Given the description of an element on the screen output the (x, y) to click on. 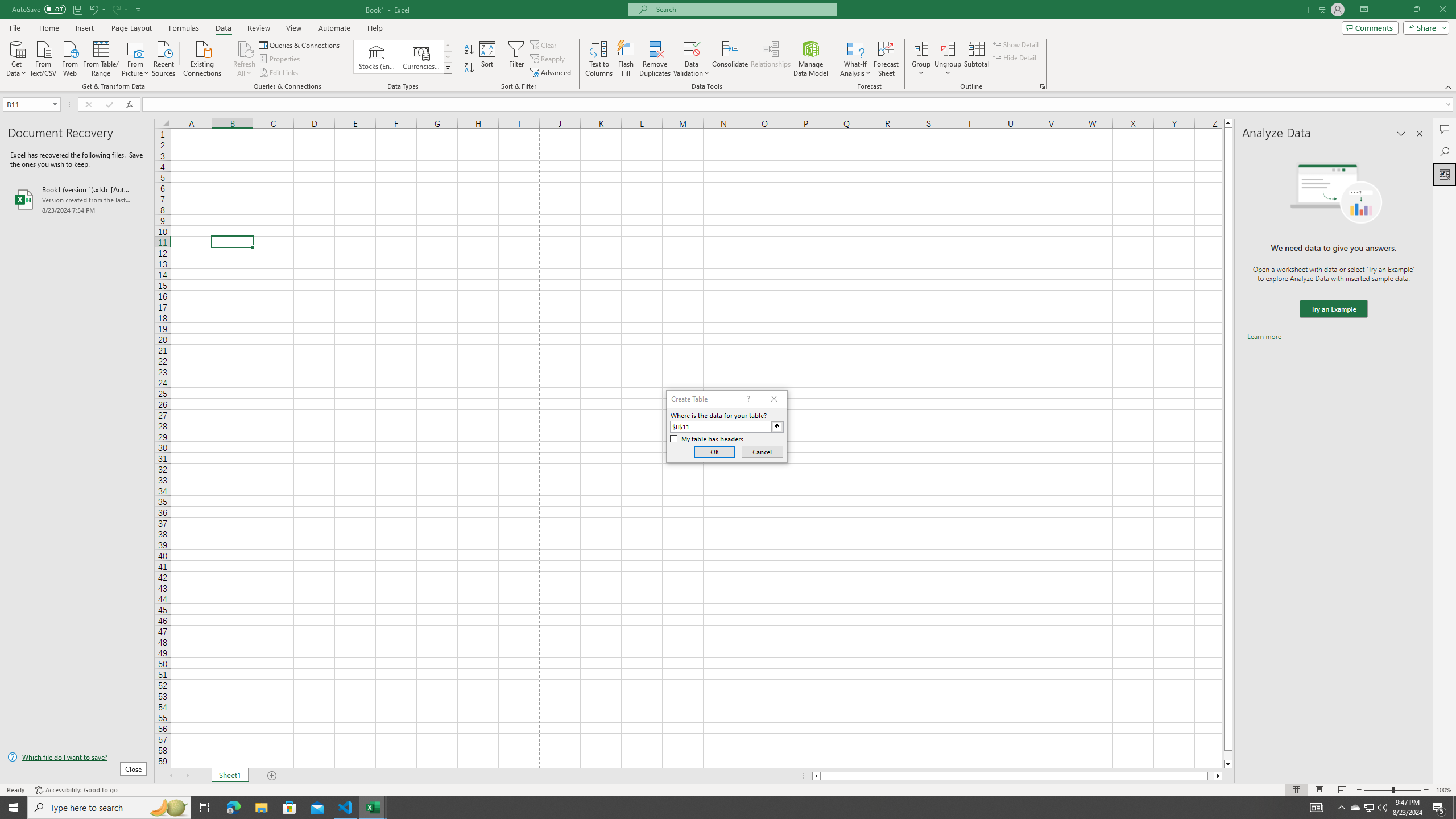
Group and Outline Settings (1042, 85)
Learn more (1264, 336)
Remove Duplicates (654, 58)
Forecast Sheet (885, 58)
